Given the description of an element on the screen output the (x, y) to click on. 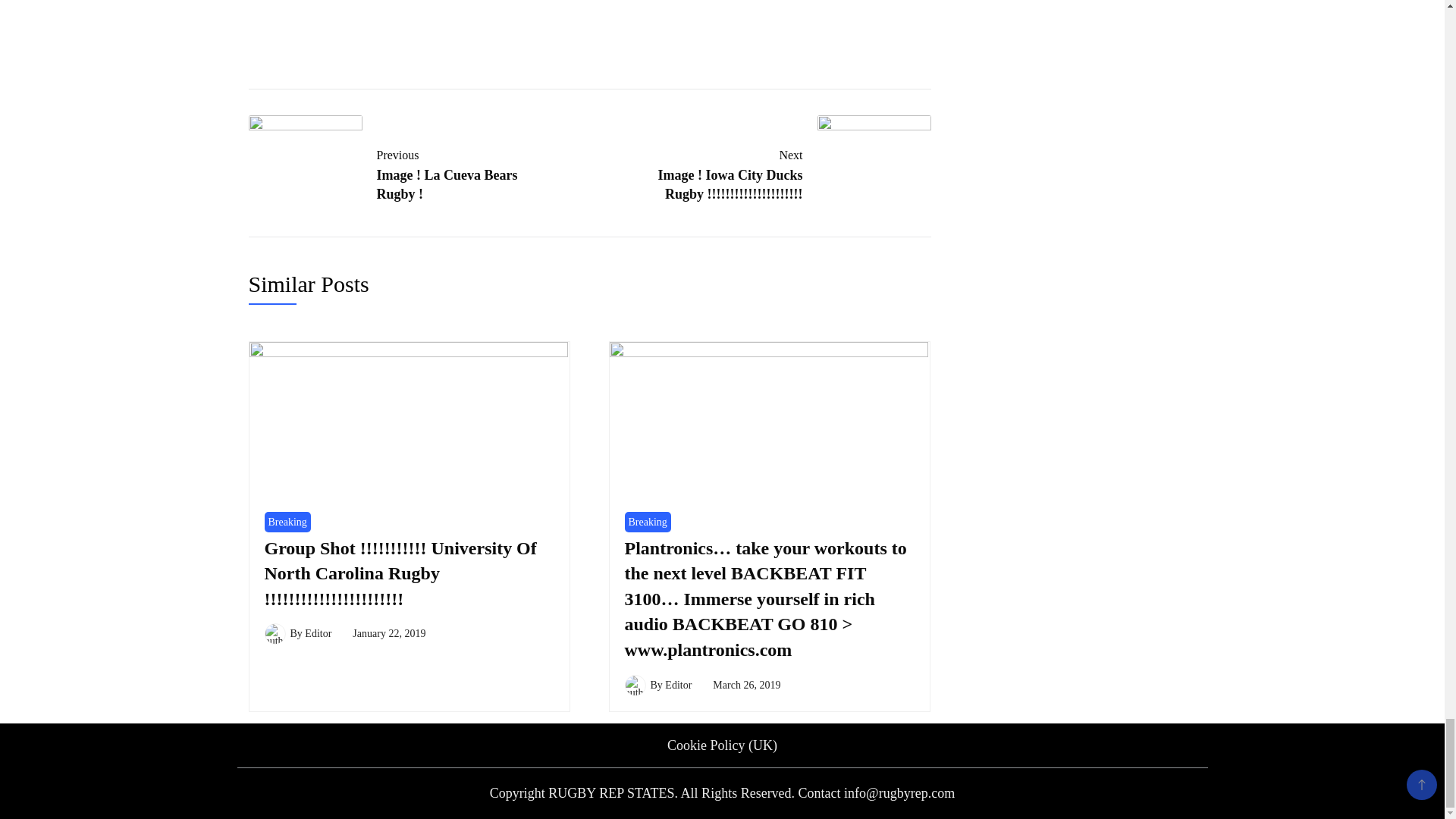
Breaking (286, 521)
Breaking (647, 521)
January 22, 2019 (394, 172)
March 26, 2019 (783, 172)
Editor (388, 633)
Editor (746, 685)
